Given the description of an element on the screen output the (x, y) to click on. 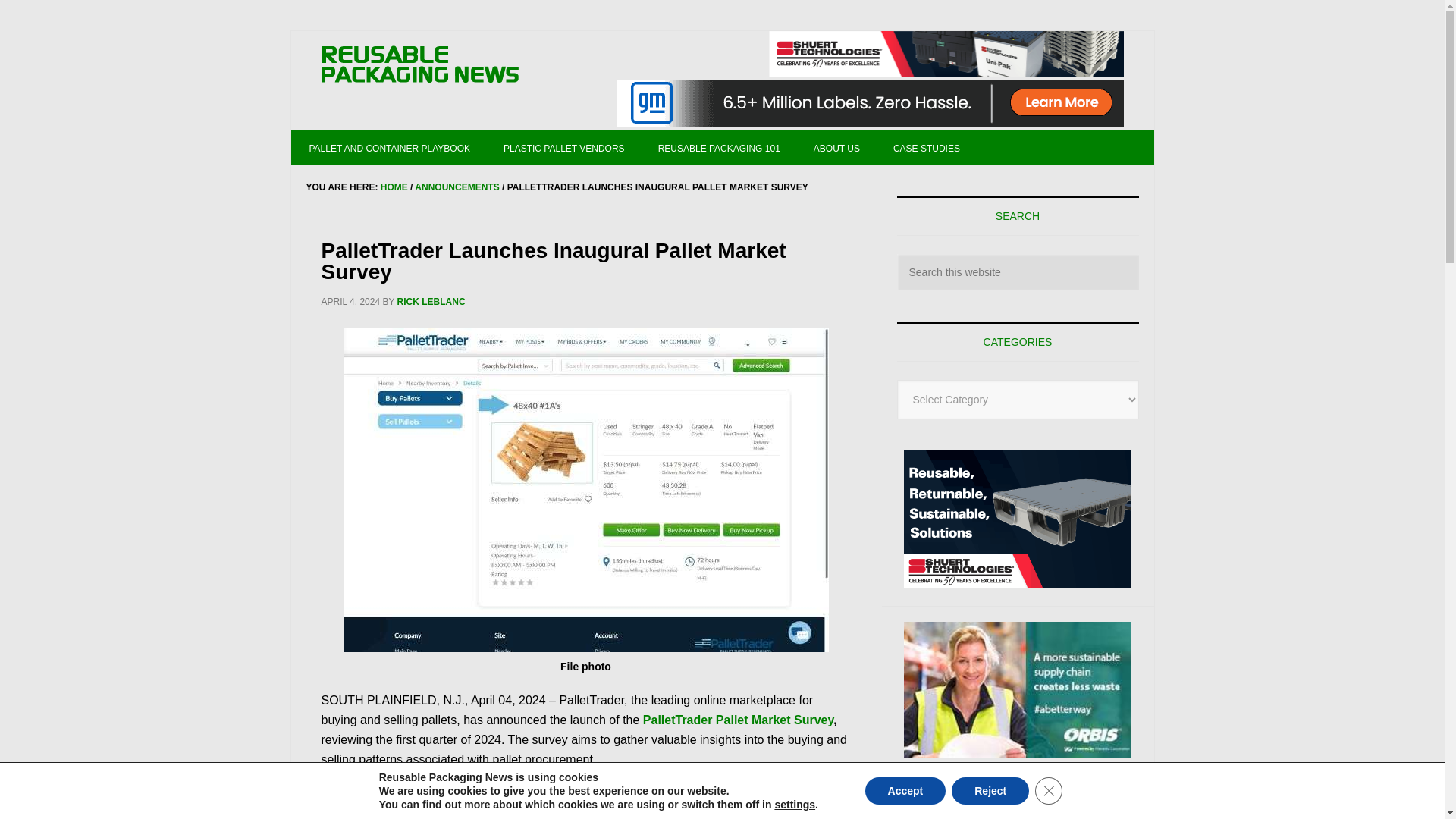
ABOUT US (835, 147)
CONPearl (1017, 805)
Shuert Industries (946, 53)
REUSABLE PACKAGING NEWS (419, 65)
RICK LEBLANC (431, 301)
REUSABLE PACKAGING 101 (718, 147)
CASE STUDIES (926, 147)
PalletTrader Pallet Market Survey (737, 719)
PALLET AND CONTAINER PLAYBOOK (390, 147)
Orbis (1017, 689)
PLASTIC PALLET VENDORS (563, 147)
Shuert (1017, 519)
HOME (393, 186)
ANNOUNCEMENTS (456, 186)
